Given the description of an element on the screen output the (x, y) to click on. 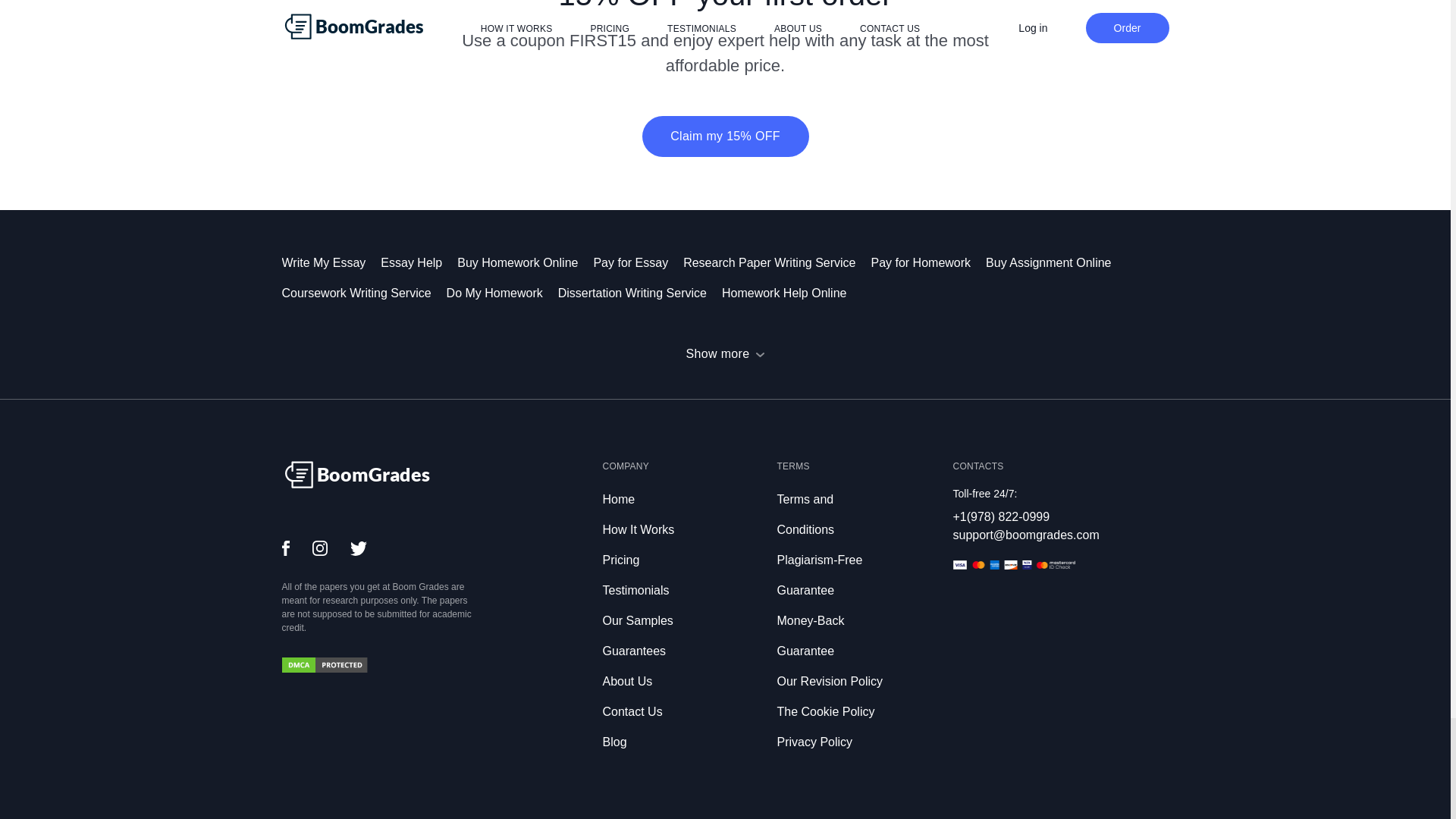
Pay for Essay (637, 262)
Our Samples (637, 620)
Pricing (620, 559)
Buy Homework Online (524, 262)
Show more (725, 353)
Pay for Homework (927, 262)
Homework Help Online (791, 292)
Do My Homework (501, 292)
Essay Help (418, 262)
Testimonials (635, 590)
